Given the description of an element on the screen output the (x, y) to click on. 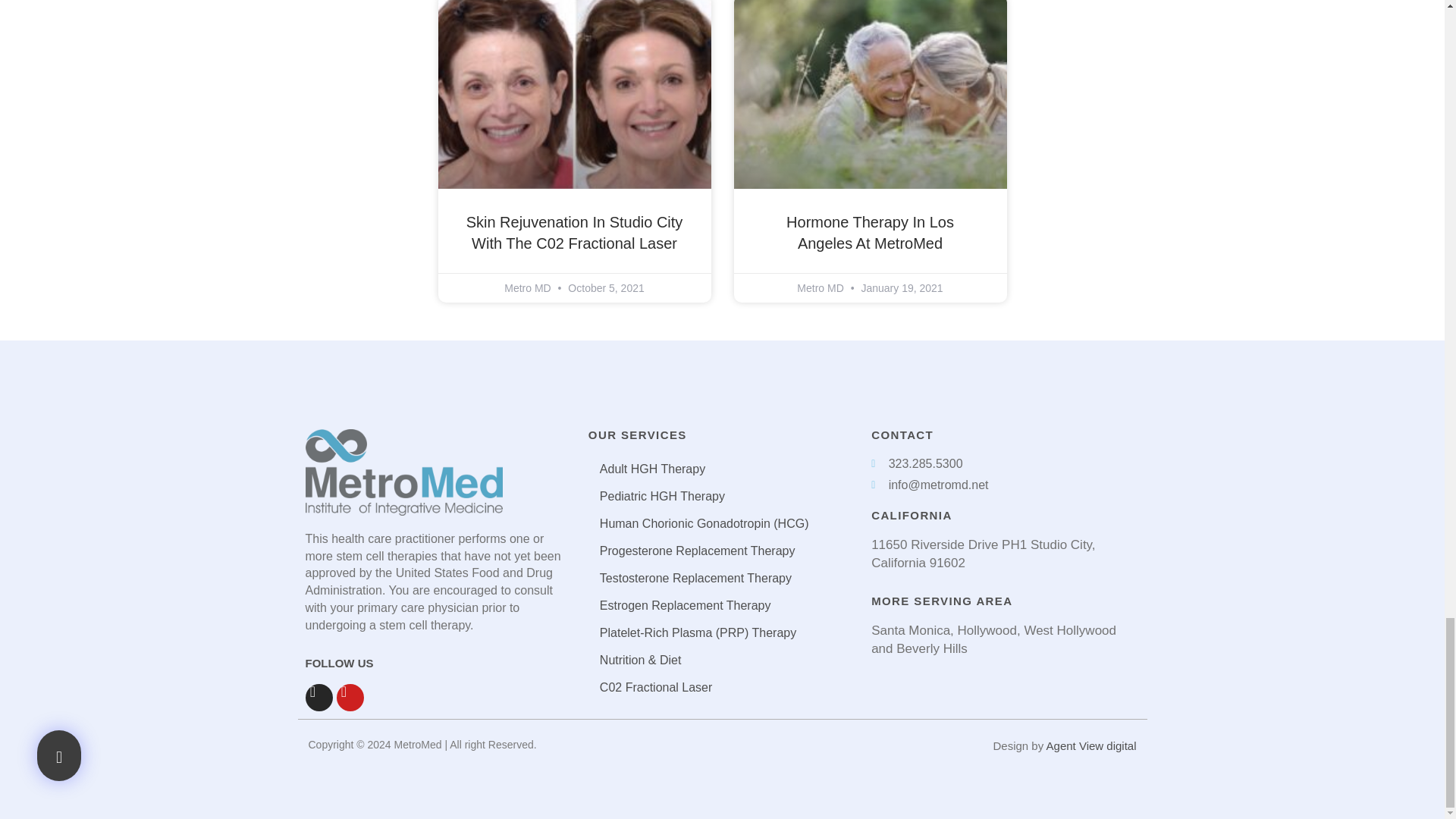
Pediatric HGH Therapy (722, 496)
Hormone Therapy In Los Angeles At MetroMed (869, 232)
Progesterone Replacement Therapy (722, 551)
Adult HGH Therapy (722, 469)
